Given the description of an element on the screen output the (x, y) to click on. 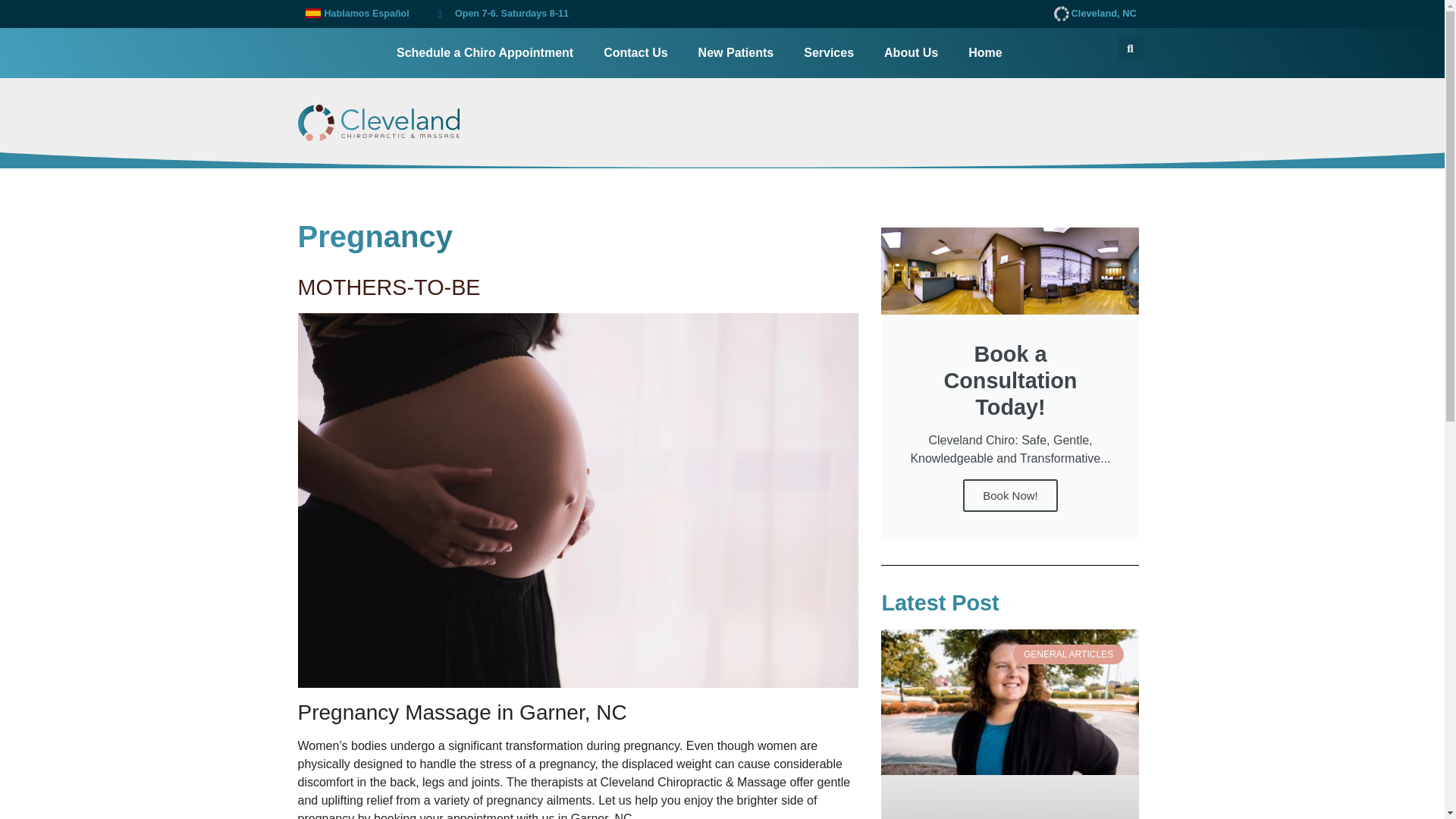
New Patients (735, 53)
Services (829, 53)
Schedule a Chiro Appointment (484, 53)
Contact Us (635, 53)
About Us (911, 53)
